Given the description of an element on the screen output the (x, y) to click on. 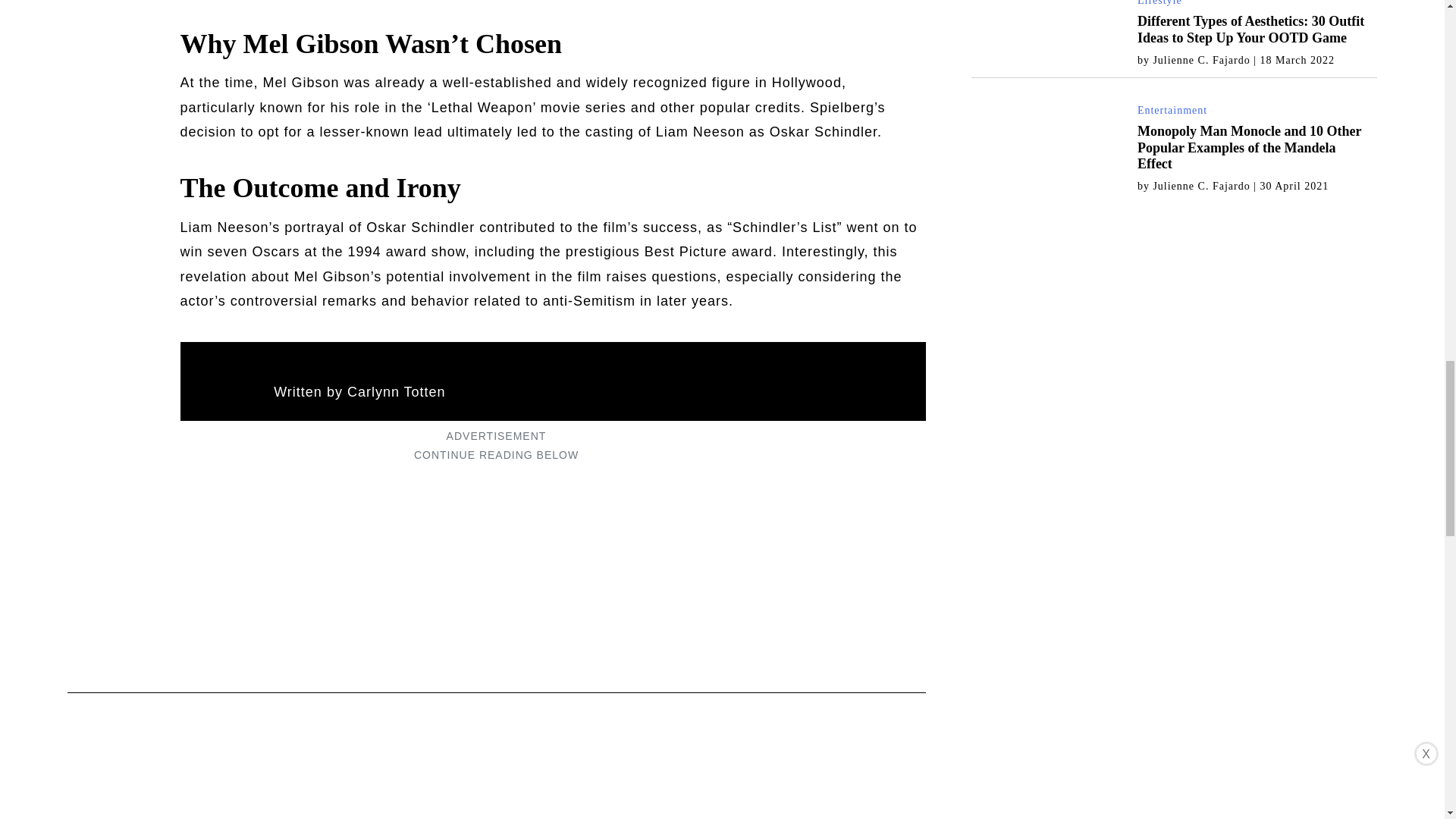
How To Watch The Patriot (167, 800)
How To Watch On The Line Mel Gibson (386, 800)
How To Watch On The Line Mel Gibson (386, 800)
How To Watch Mad Max (604, 800)
How To Watch Mad Max In Order (823, 800)
How To Watch Mad Max In Order (823, 800)
How To Watch Mad Max (604, 800)
How To Watch The Patriot (167, 800)
